Given the description of an element on the screen output the (x, y) to click on. 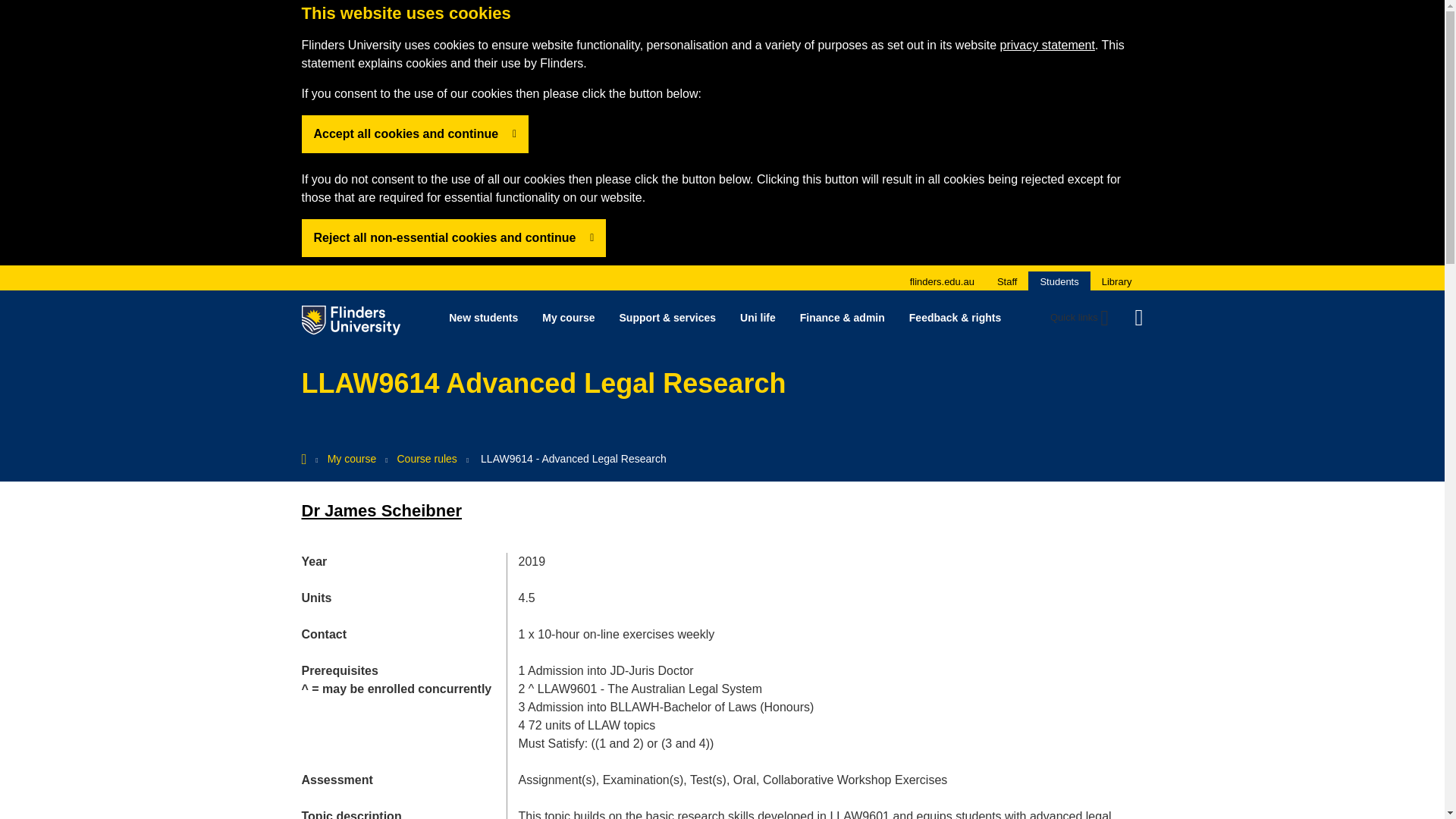
Accept and continue (454, 238)
Students (1058, 281)
New students (482, 317)
My course (568, 317)
Library (1117, 281)
Accept and continue (415, 134)
flinders.edu.au (942, 281)
Staff (1007, 281)
